Given the description of an element on the screen output the (x, y) to click on. 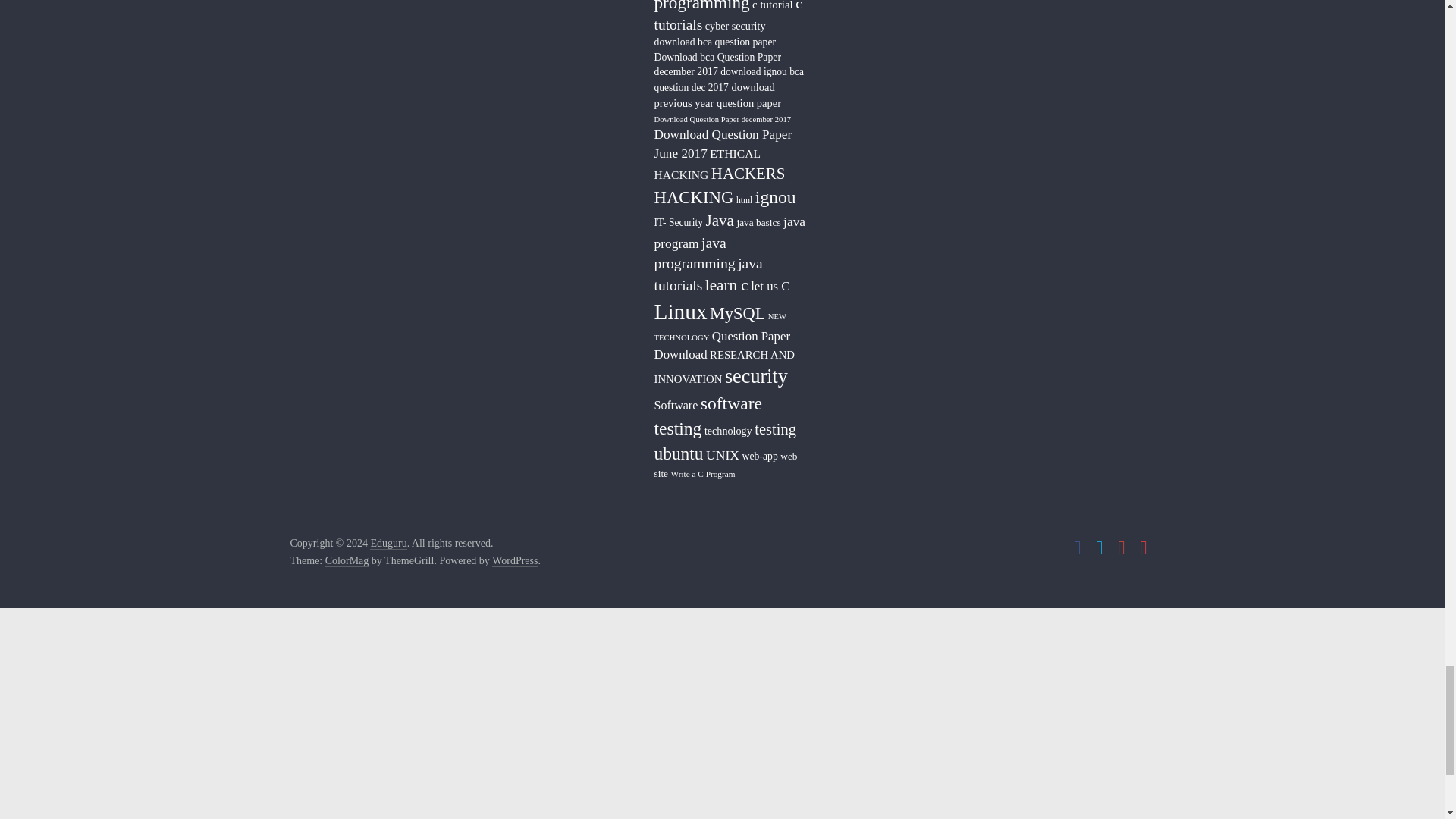
WordPress (514, 561)
Eduguru (387, 543)
ColorMag (346, 561)
